Given the description of an element on the screen output the (x, y) to click on. 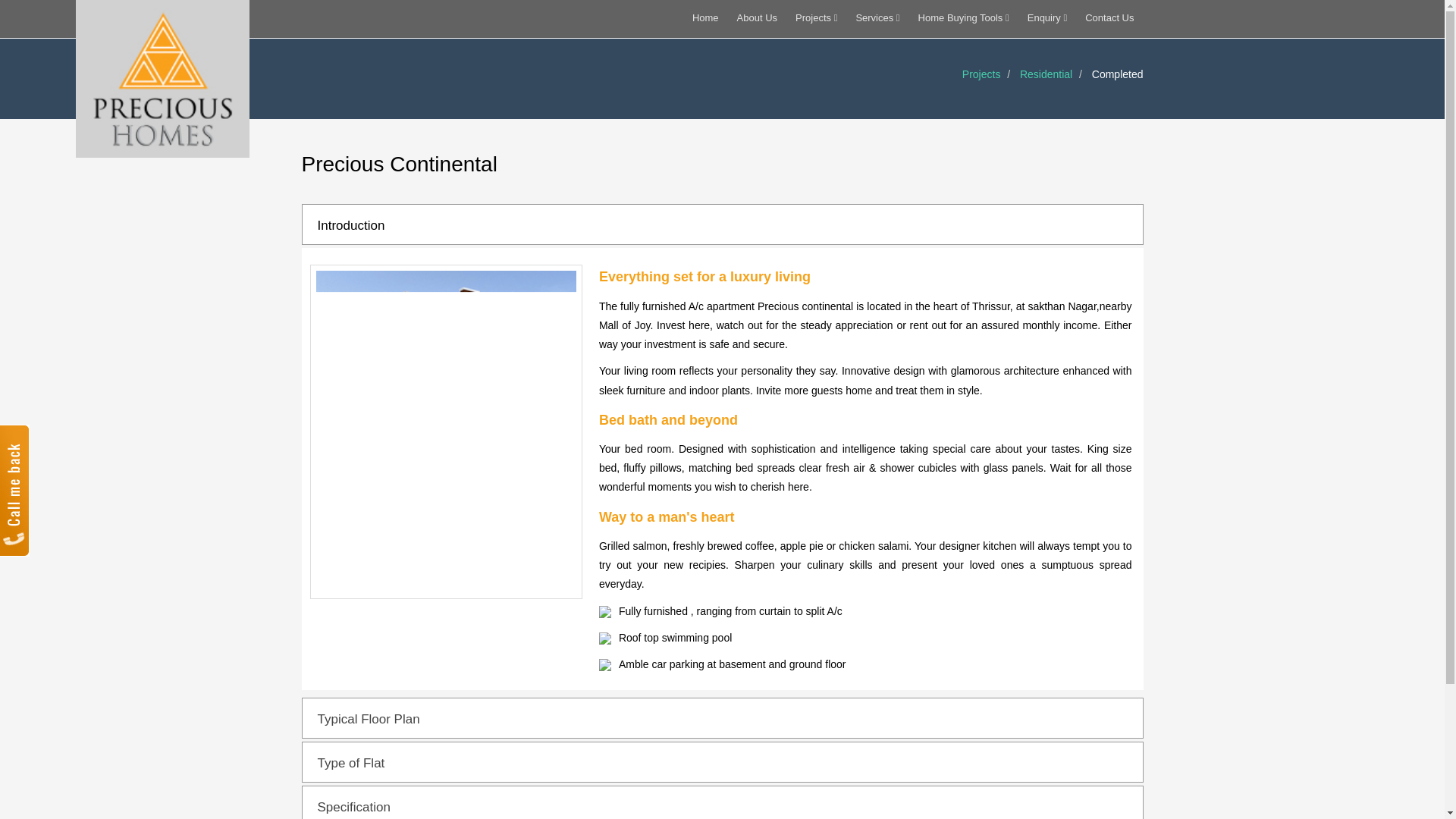
Home Buying Tools (962, 16)
Enquiry (1046, 16)
Home (705, 16)
Services (876, 16)
Contact Us (1108, 16)
About Us (757, 16)
Projects (981, 73)
Projects (815, 16)
Residential (1045, 73)
